Given the description of an element on the screen output the (x, y) to click on. 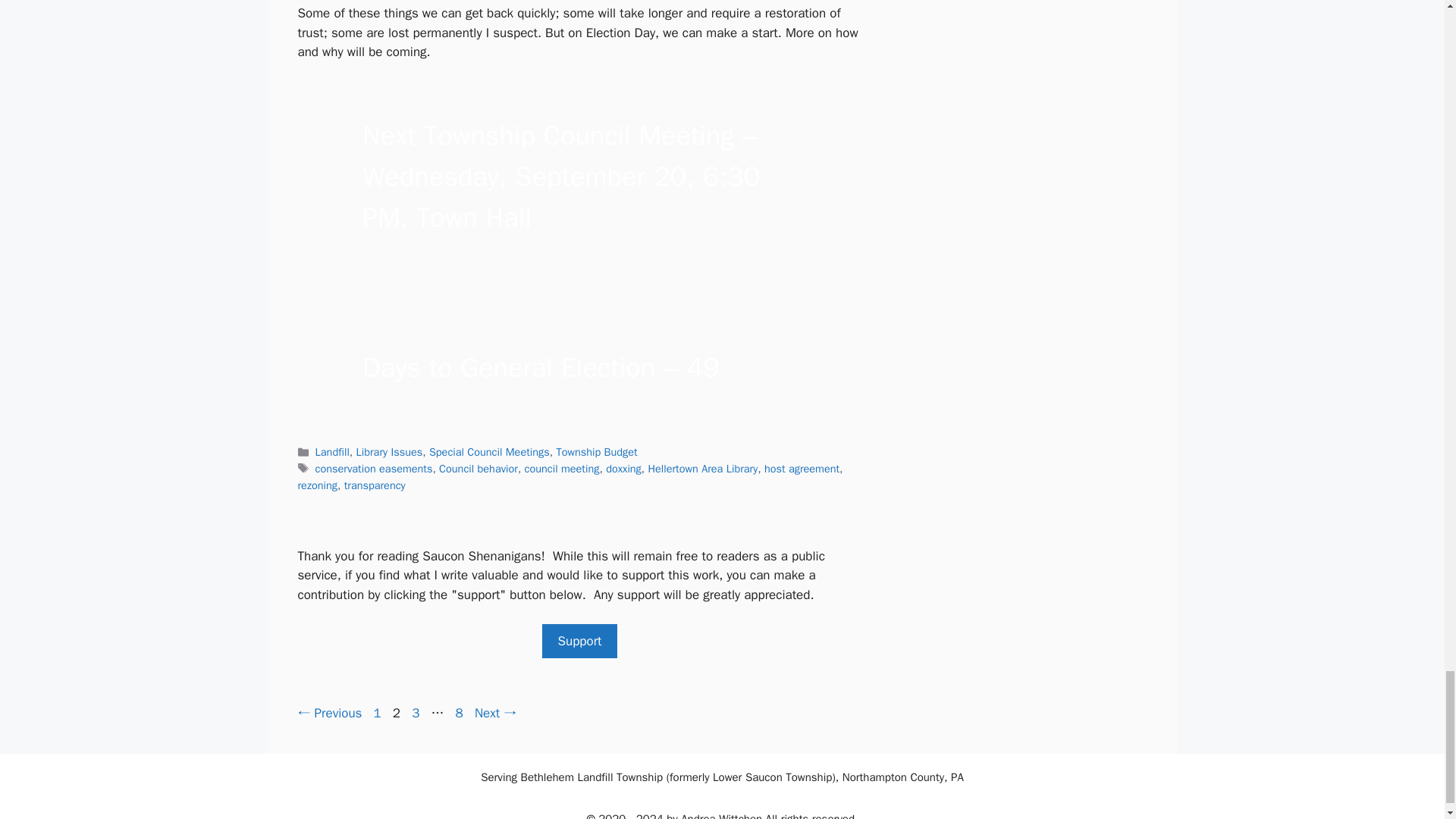
Special Council Meetings (489, 451)
Support (578, 641)
Council behavior (478, 468)
Landfill (332, 451)
Township Budget (596, 451)
council meeting (561, 468)
conservation easements (373, 468)
Hellertown Area Library (702, 468)
host agreement (459, 713)
Library Issues (802, 468)
rezoning (389, 451)
doxxing (377, 713)
